Given the description of an element on the screen output the (x, y) to click on. 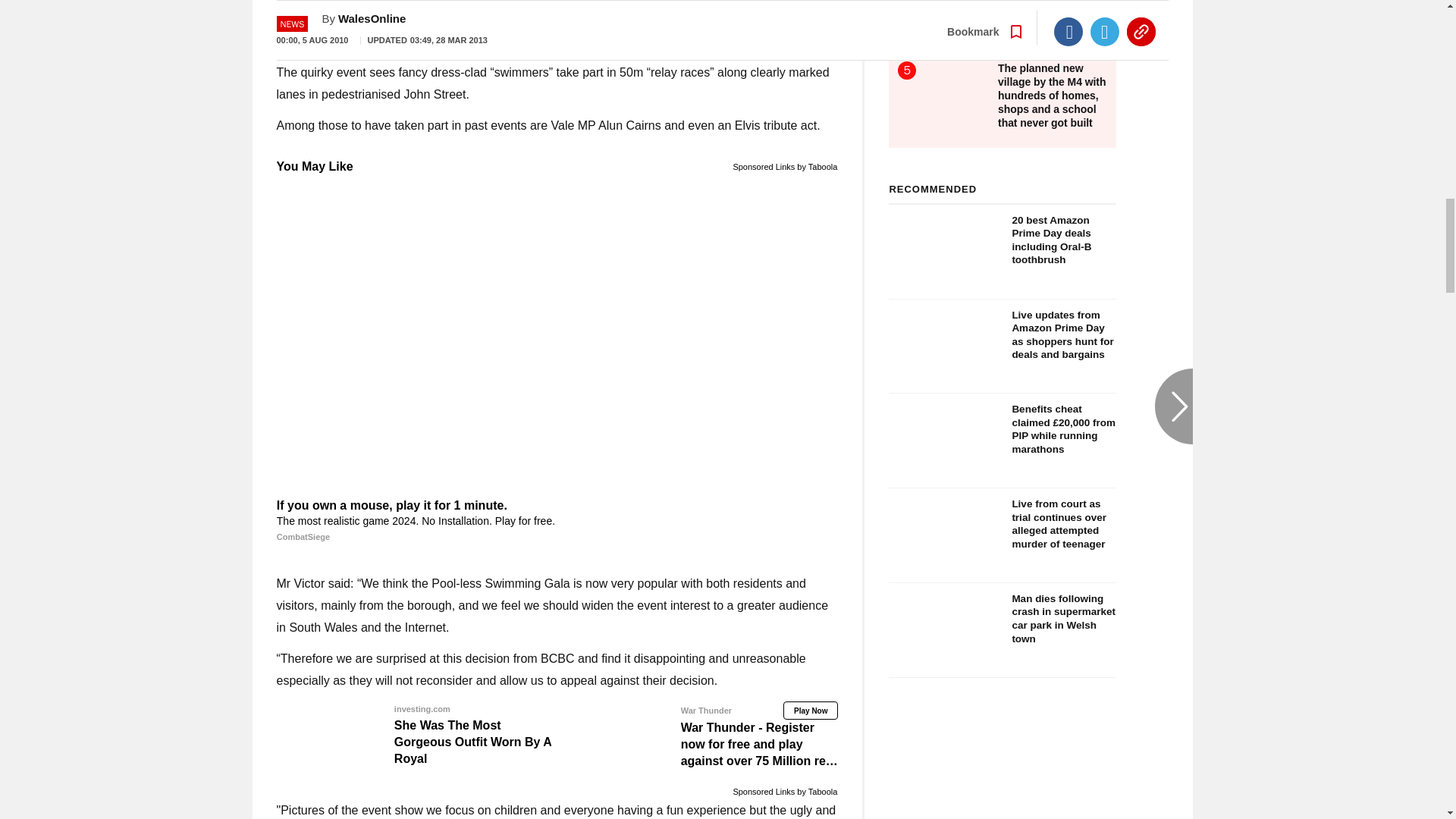
If you own a mouse, play it for 1 minute. (557, 521)
